Given the description of an element on the screen output the (x, y) to click on. 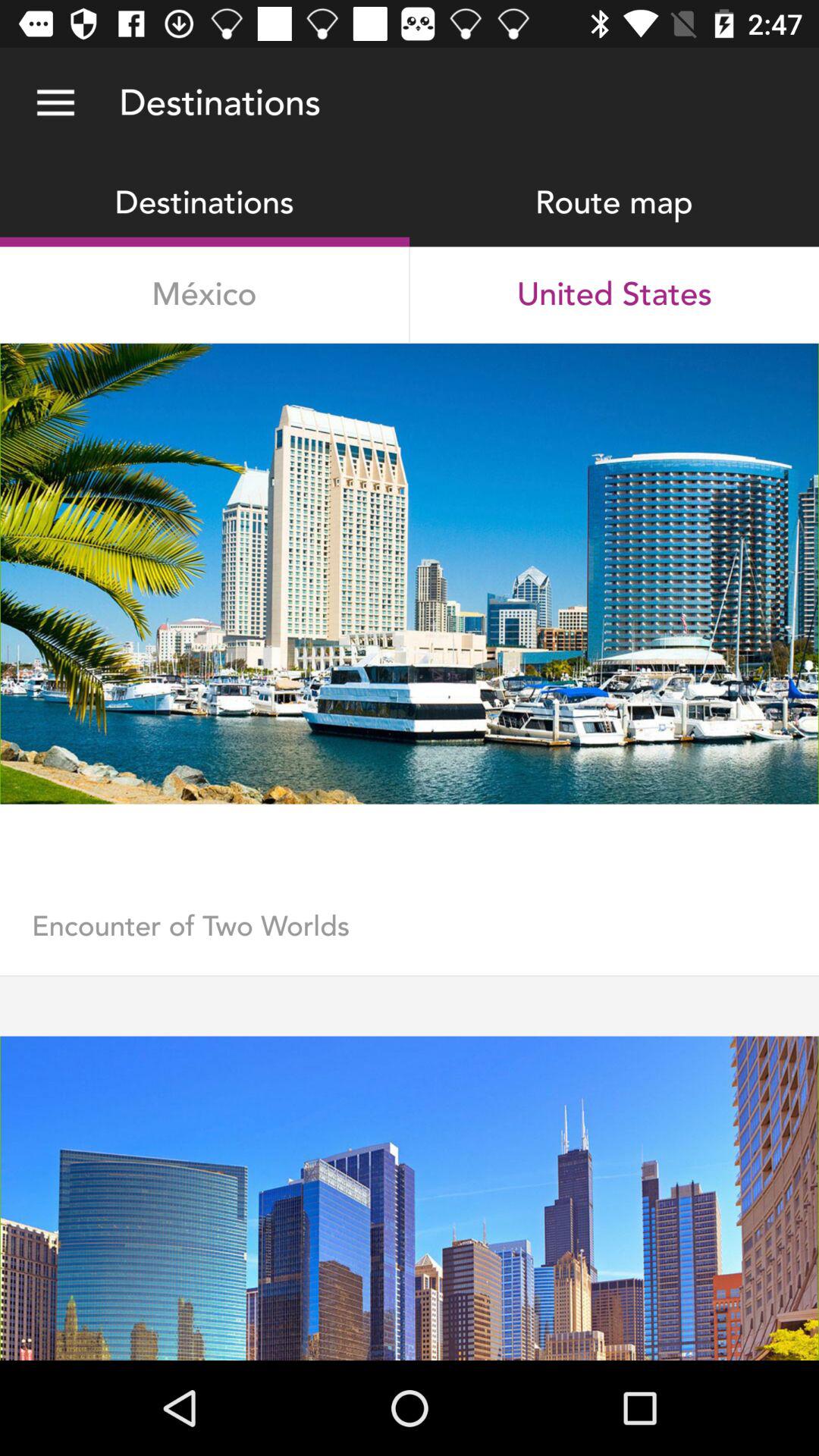
open the item below the route map item (614, 294)
